Given the description of an element on the screen output the (x, y) to click on. 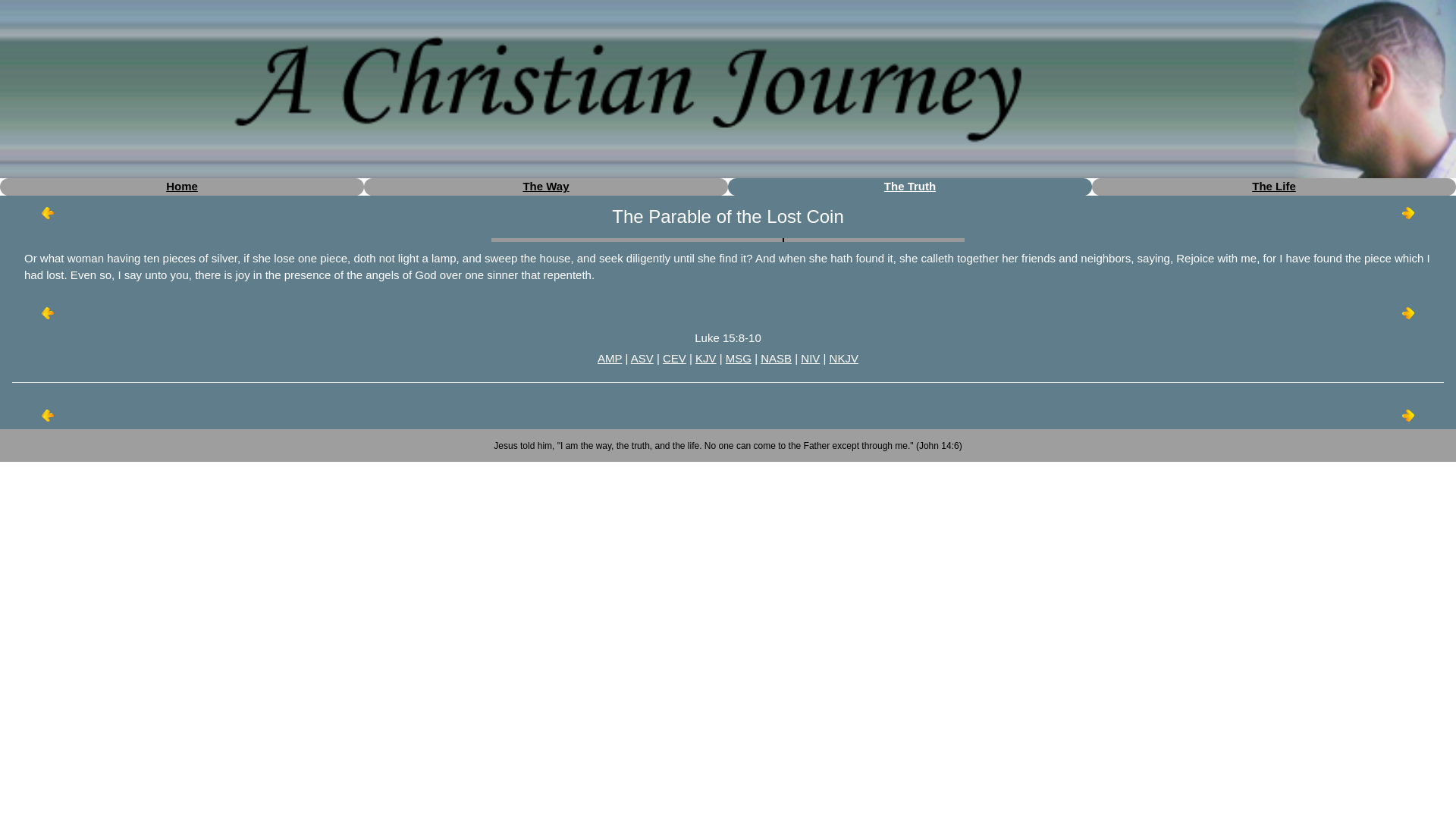
AMP (608, 358)
CEV (673, 358)
KJV (705, 358)
MSG (738, 358)
NKJV (844, 358)
ASV (641, 358)
NASB (776, 358)
The Way (545, 185)
The Truth (909, 185)
NIV (809, 358)
The Life (1273, 185)
Home (181, 185)
